Given the description of an element on the screen output the (x, y) to click on. 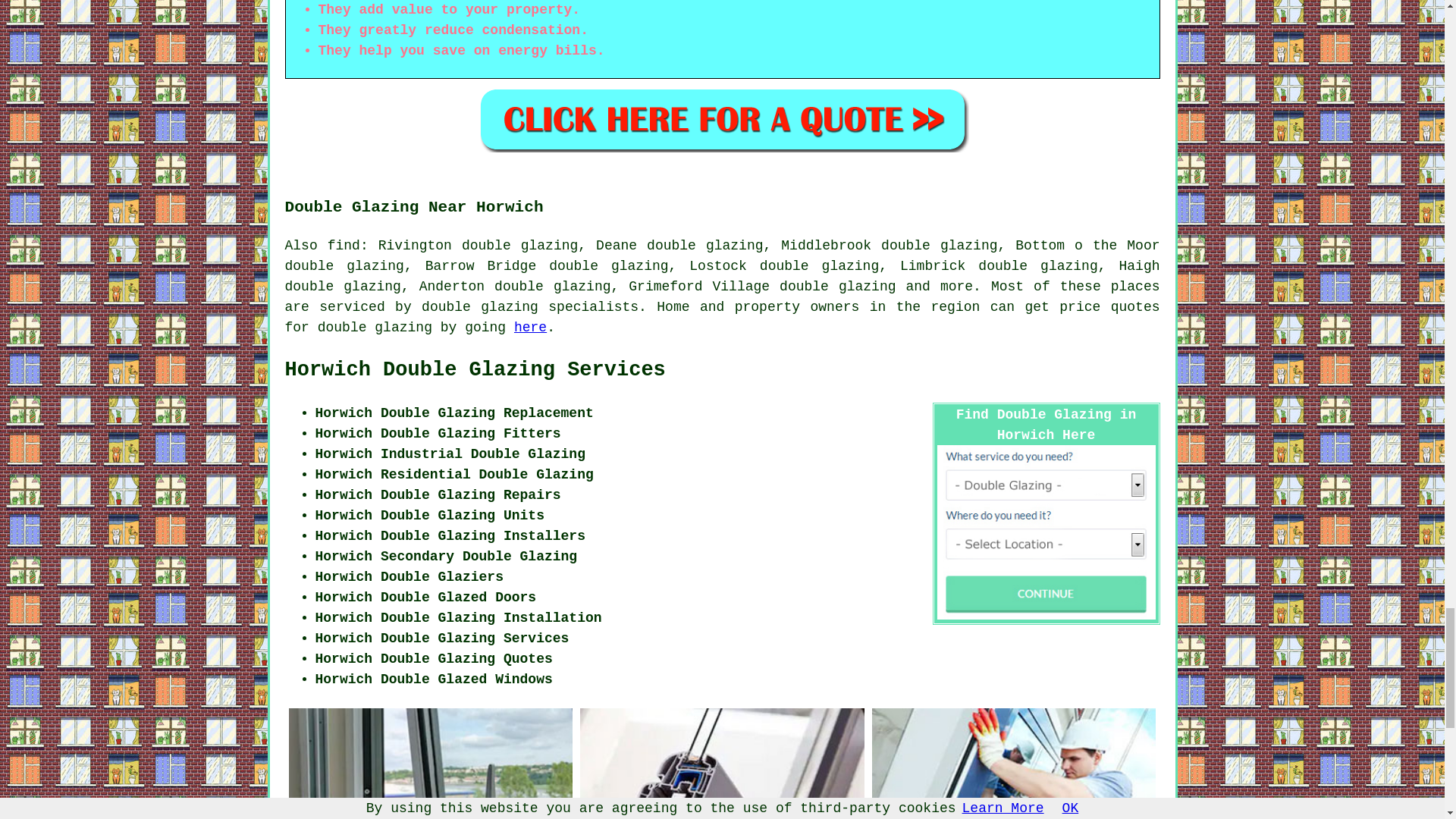
Double Glazing Installers Horwich UK (1014, 763)
Double Glazed Windows Horwich Greater Manchester (721, 763)
Double Glazing Horwich (430, 763)
HORWICH DOUBLE GLAZING QUOTES (722, 119)
